Given the description of an element on the screen output the (x, y) to click on. 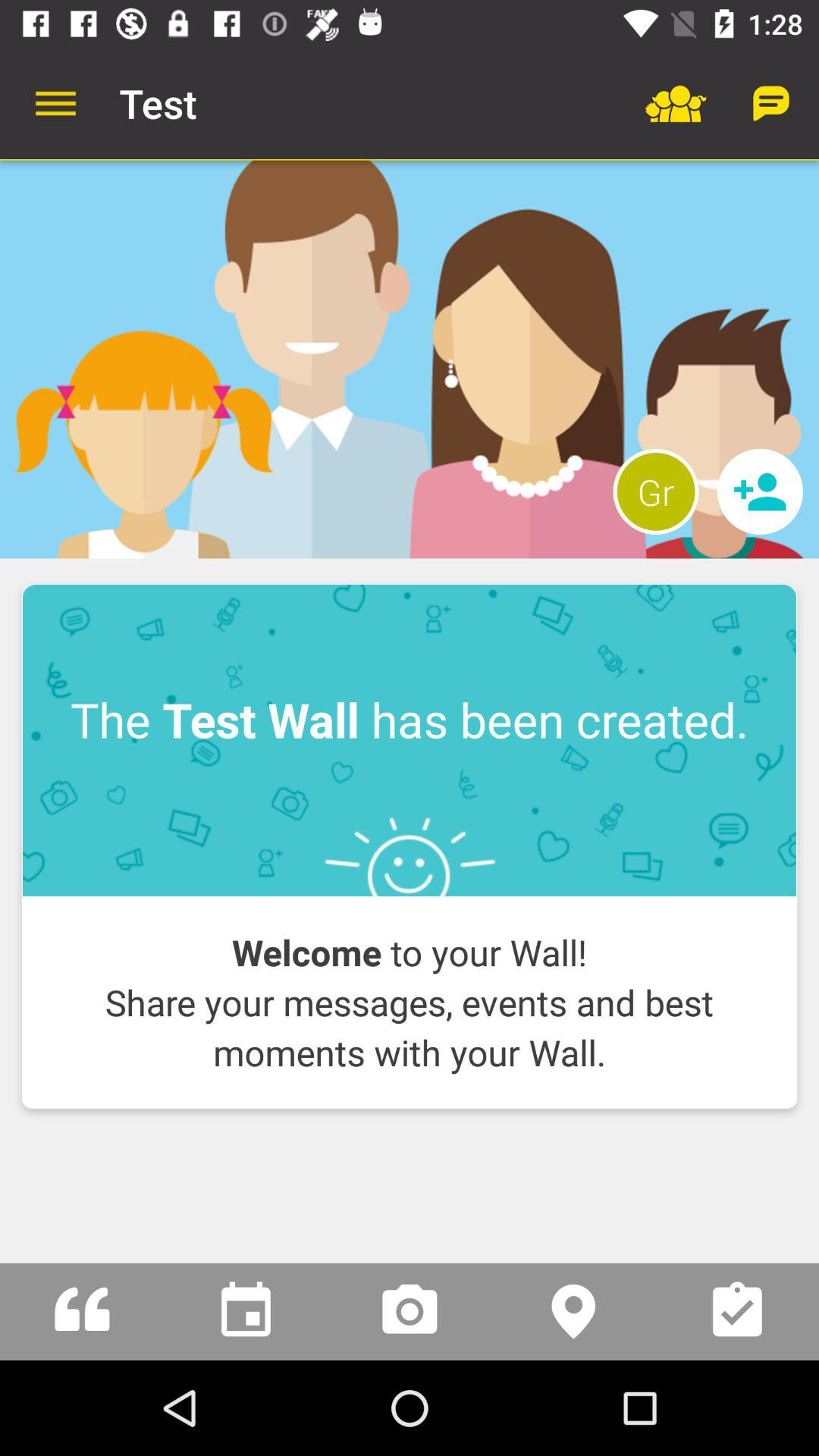
change the layout (409, 359)
